Given the description of an element on the screen output the (x, y) to click on. 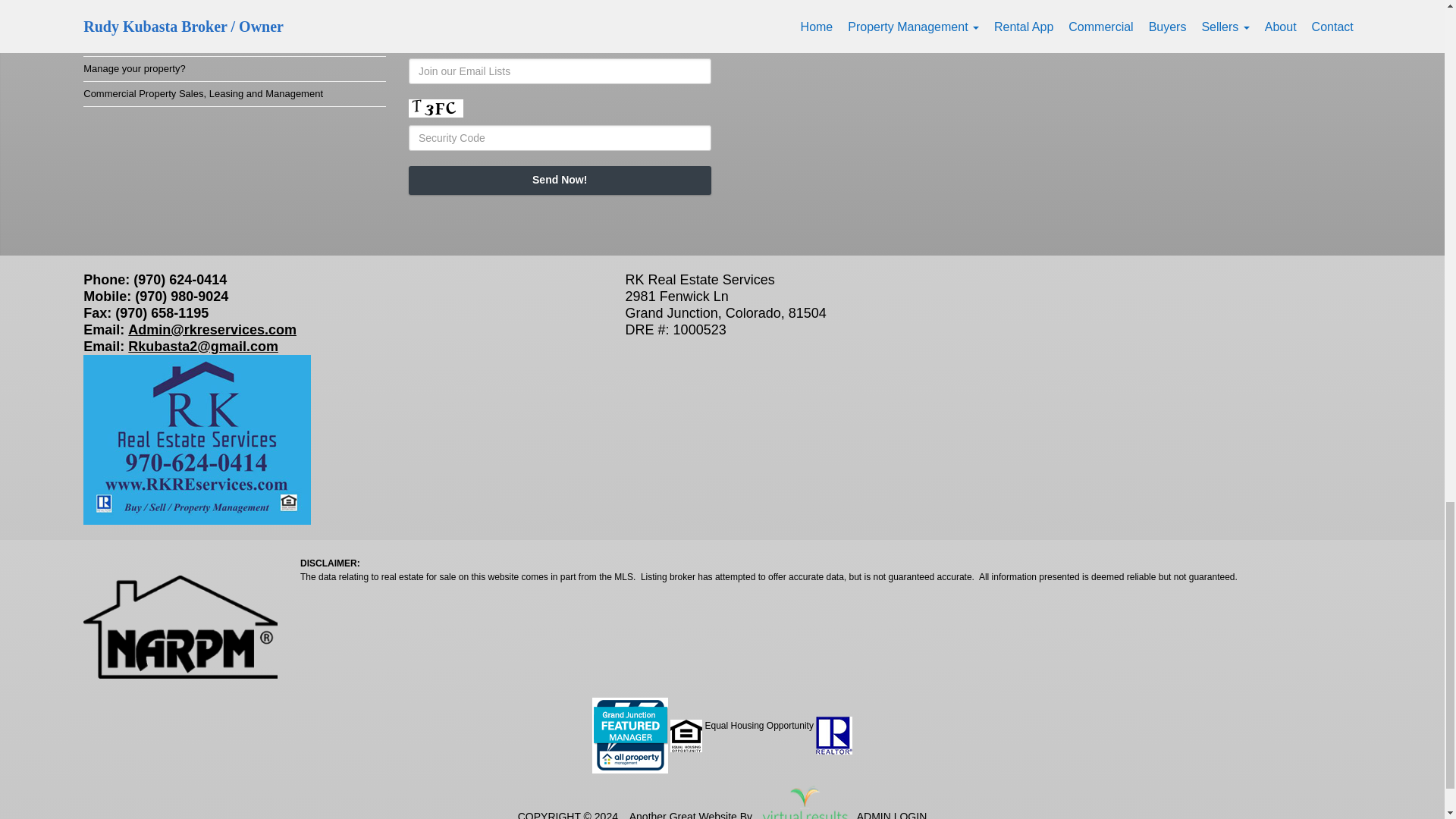
Selling Your Home... (127, 43)
Manage your property? (133, 68)
Commercial Property Sales, Leasing and Management (202, 93)
Send Now! (560, 180)
Buying Your New Home... (138, 18)
